Given the description of an element on the screen output the (x, y) to click on. 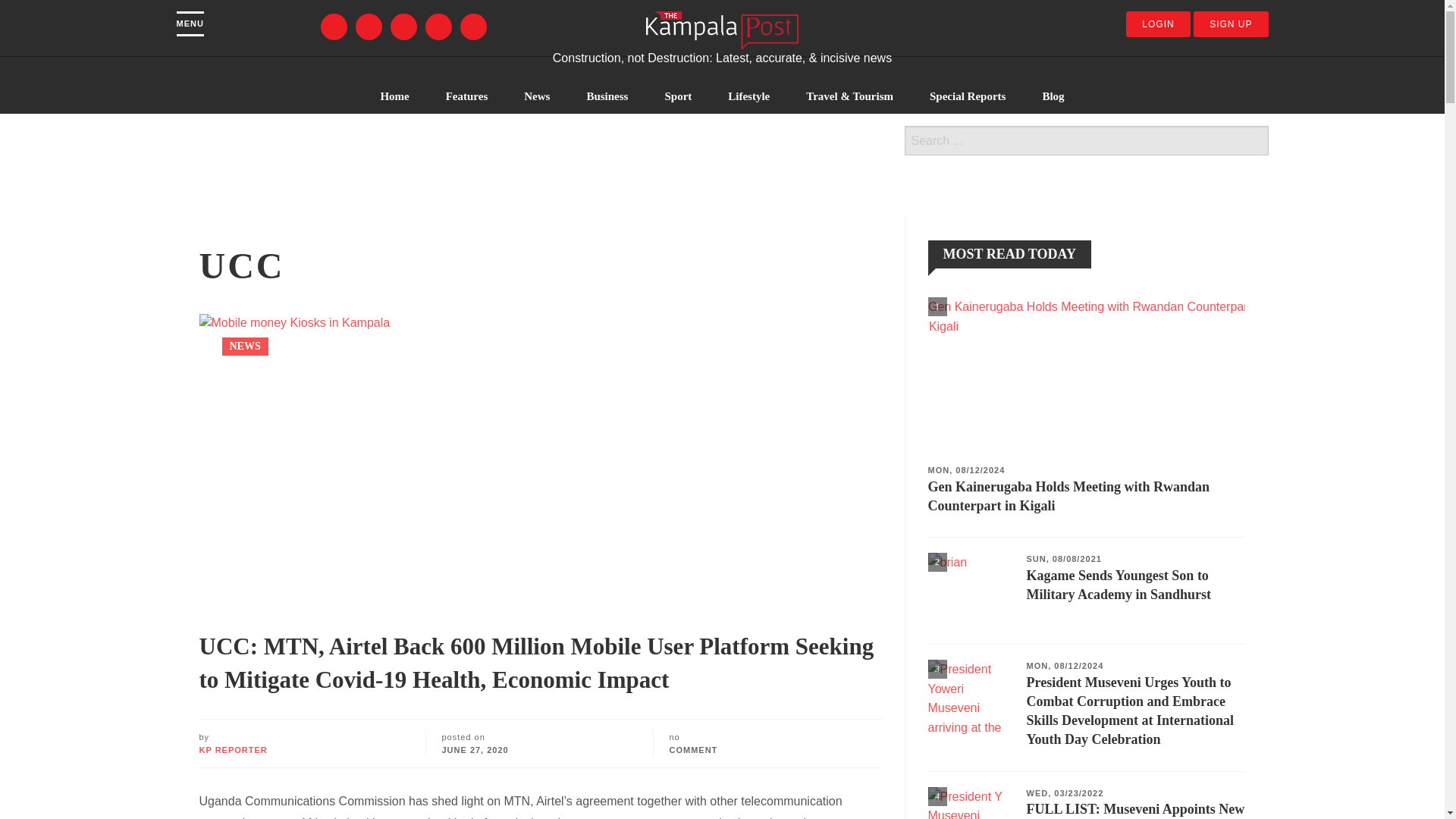
Home (721, 29)
MENU (189, 23)
SIGN UP (1230, 23)
LOGIN (1157, 23)
Features (467, 96)
Home (393, 96)
